Given the description of an element on the screen output the (x, y) to click on. 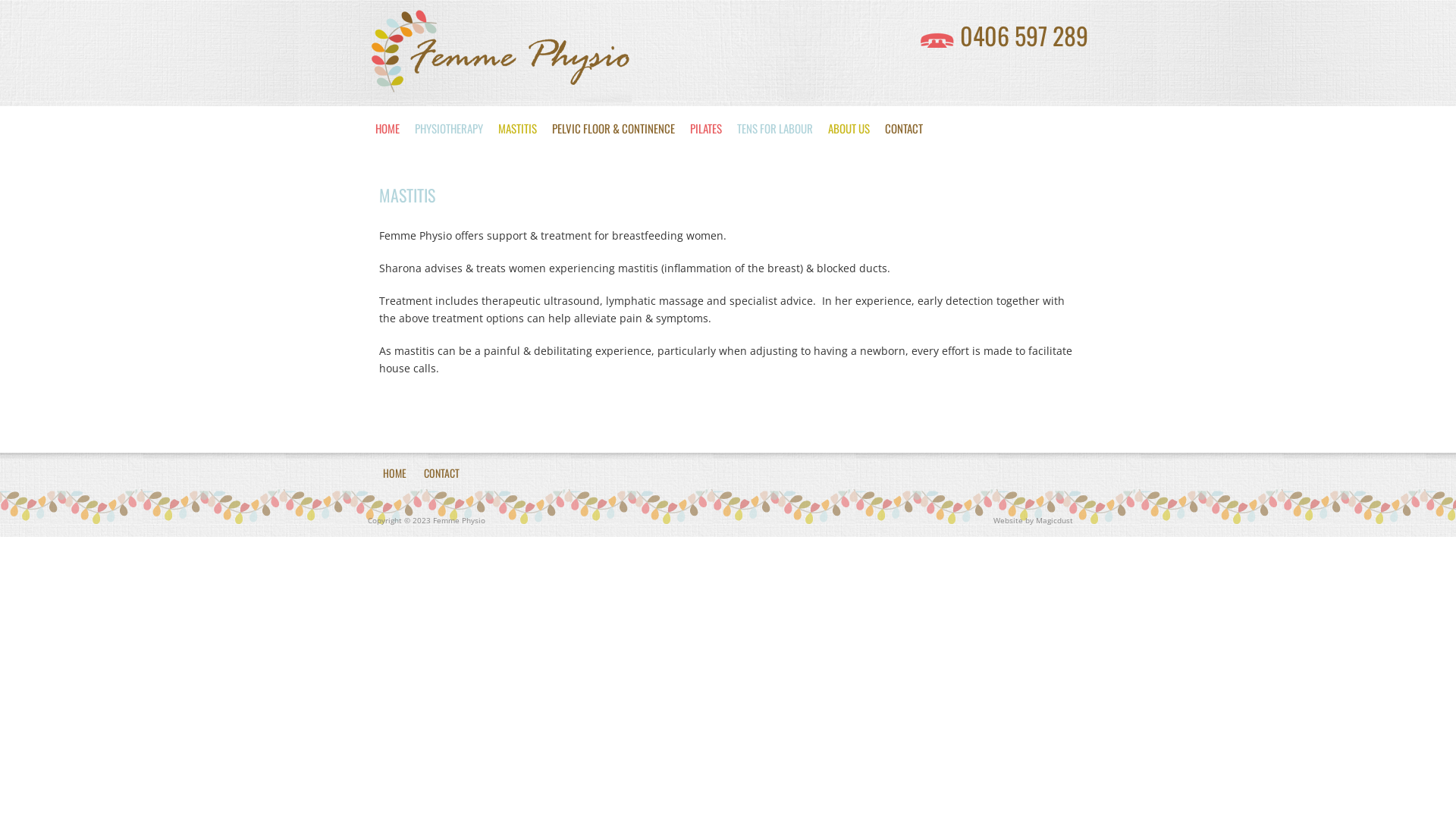
CONTACT Element type: text (903, 128)
HOME Element type: text (387, 128)
HOME Element type: text (394, 472)
MASTITIS Element type: text (517, 128)
ABOUT US Element type: text (848, 128)
PELVIC FLOOR & CONTINENCE Element type: text (613, 128)
Femme Physio Element type: text (500, 53)
PILATES Element type: text (705, 128)
PHYSIOTHERAPY Element type: text (448, 128)
CONTACT Element type: text (441, 472)
TENS FOR LABOUR Element type: text (774, 128)
Magicdust Element type: text (1054, 519)
